Given the description of an element on the screen output the (x, y) to click on. 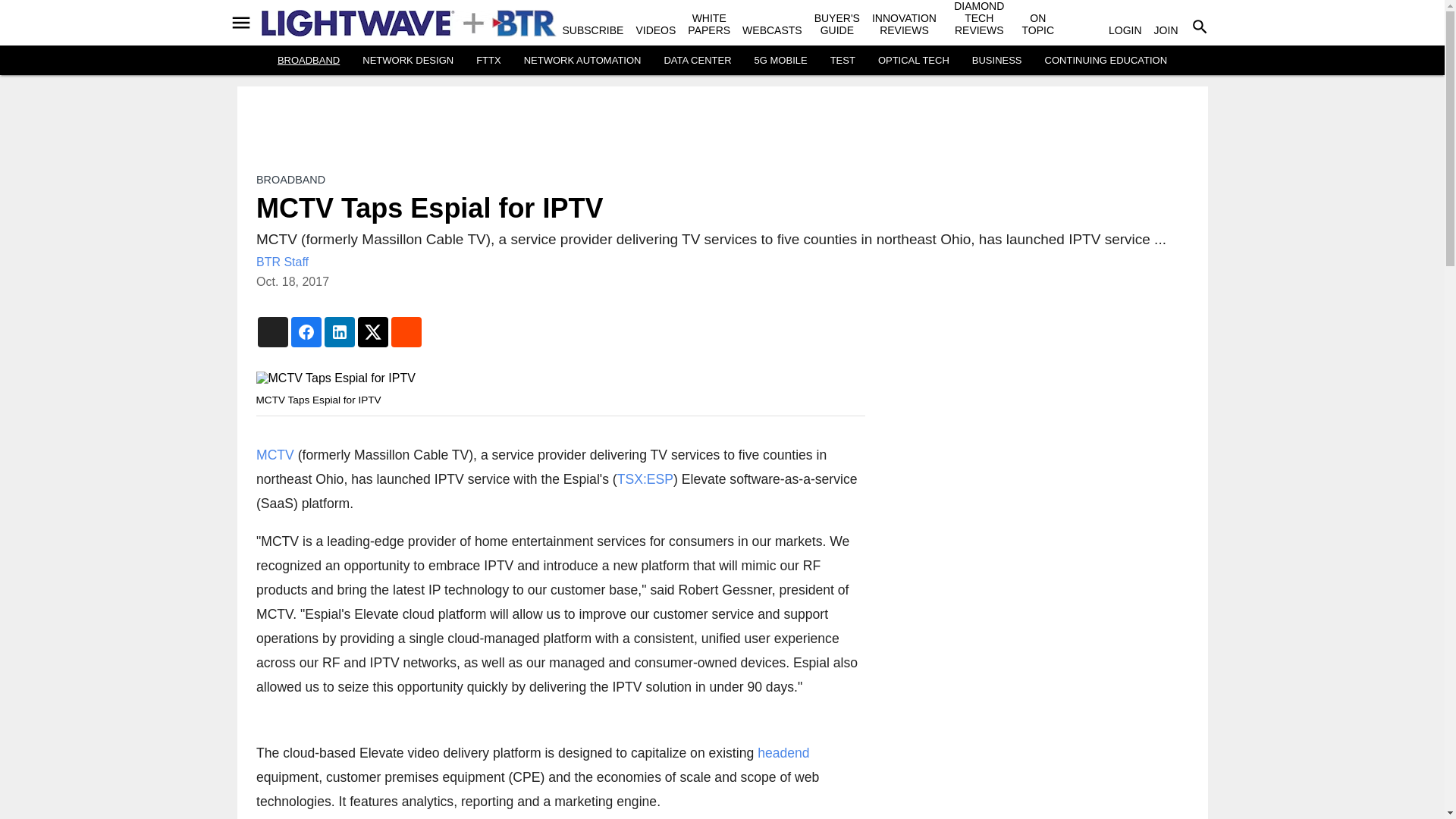
SUBSCRIBE (593, 30)
BUSINESS (997, 60)
WHITE PAPERS (708, 24)
NETWORK AUTOMATION (583, 60)
OPTICAL TECH (913, 60)
CONTINUING EDUCATION (1106, 60)
JOIN (1165, 30)
FTTX (488, 60)
5G MOBILE (781, 60)
BROADBAND (308, 60)
MCTV Taps Espial for IPTV (560, 377)
NETWORK DESIGN (407, 60)
VIDEOS (654, 30)
TEST (842, 60)
LOGIN (1124, 30)
